Given the description of an element on the screen output the (x, y) to click on. 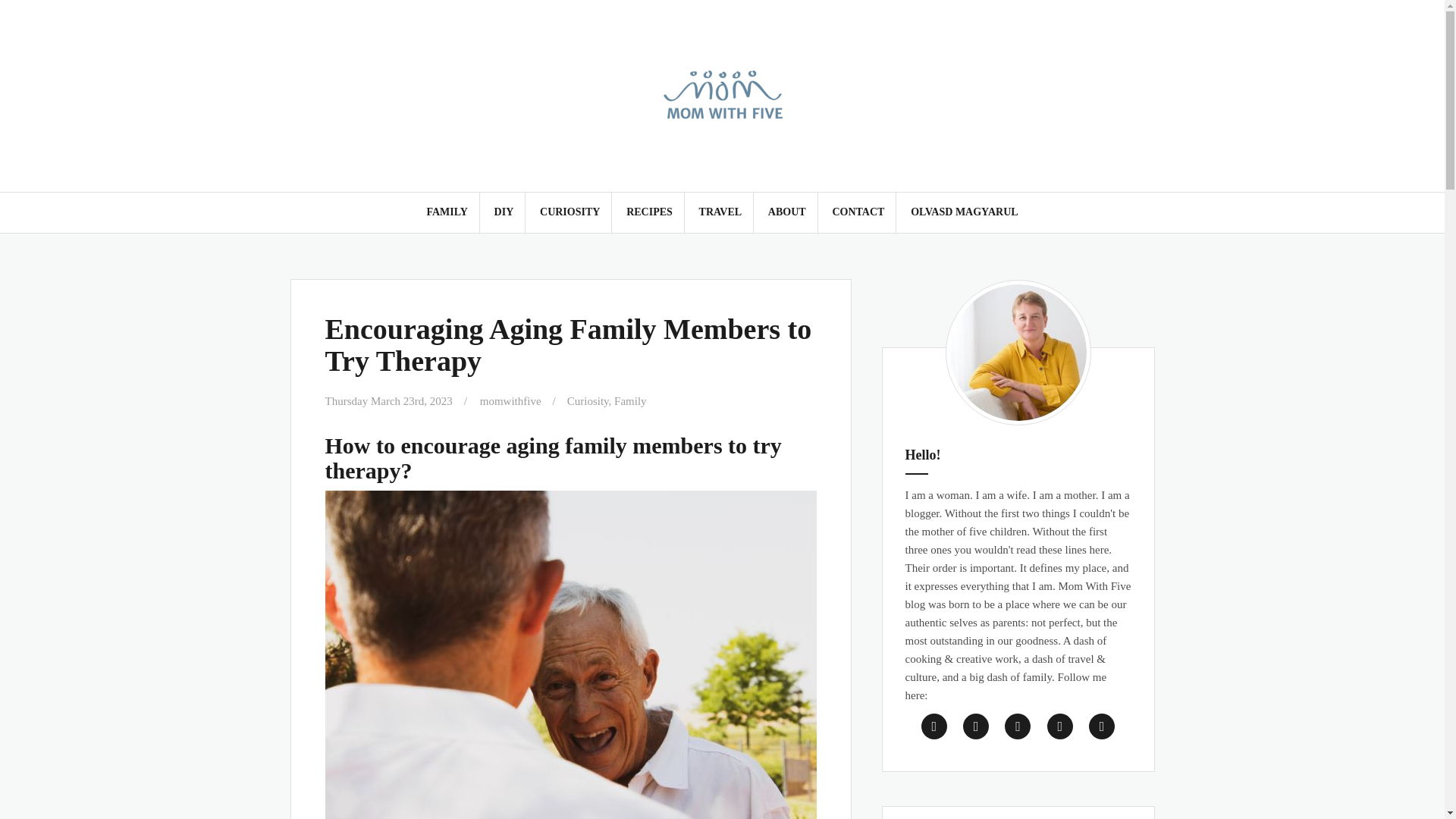
Thursday March 23rd, 2023 (387, 400)
Mom With Five (721, 94)
momwithfive (510, 400)
RECIPES (649, 211)
TRAVEL (720, 211)
Family (630, 400)
CURIOSITY (569, 211)
ABOUT (787, 211)
Curiosity (587, 400)
